Given the description of an element on the screen output the (x, y) to click on. 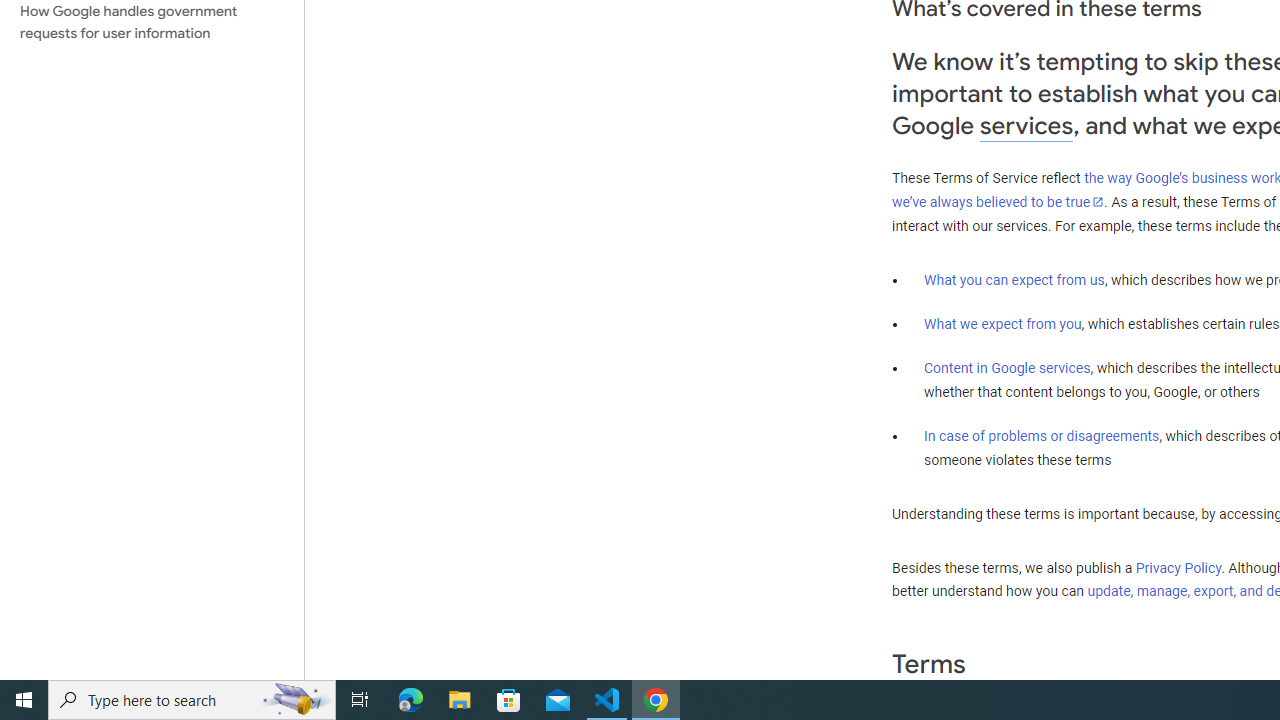
What we expect from you (1002, 323)
What you can expect from us (1014, 279)
In case of problems or disagreements (1041, 435)
services (1026, 125)
Content in Google services (1007, 368)
Privacy Policy (1178, 567)
